Given the description of an element on the screen output the (x, y) to click on. 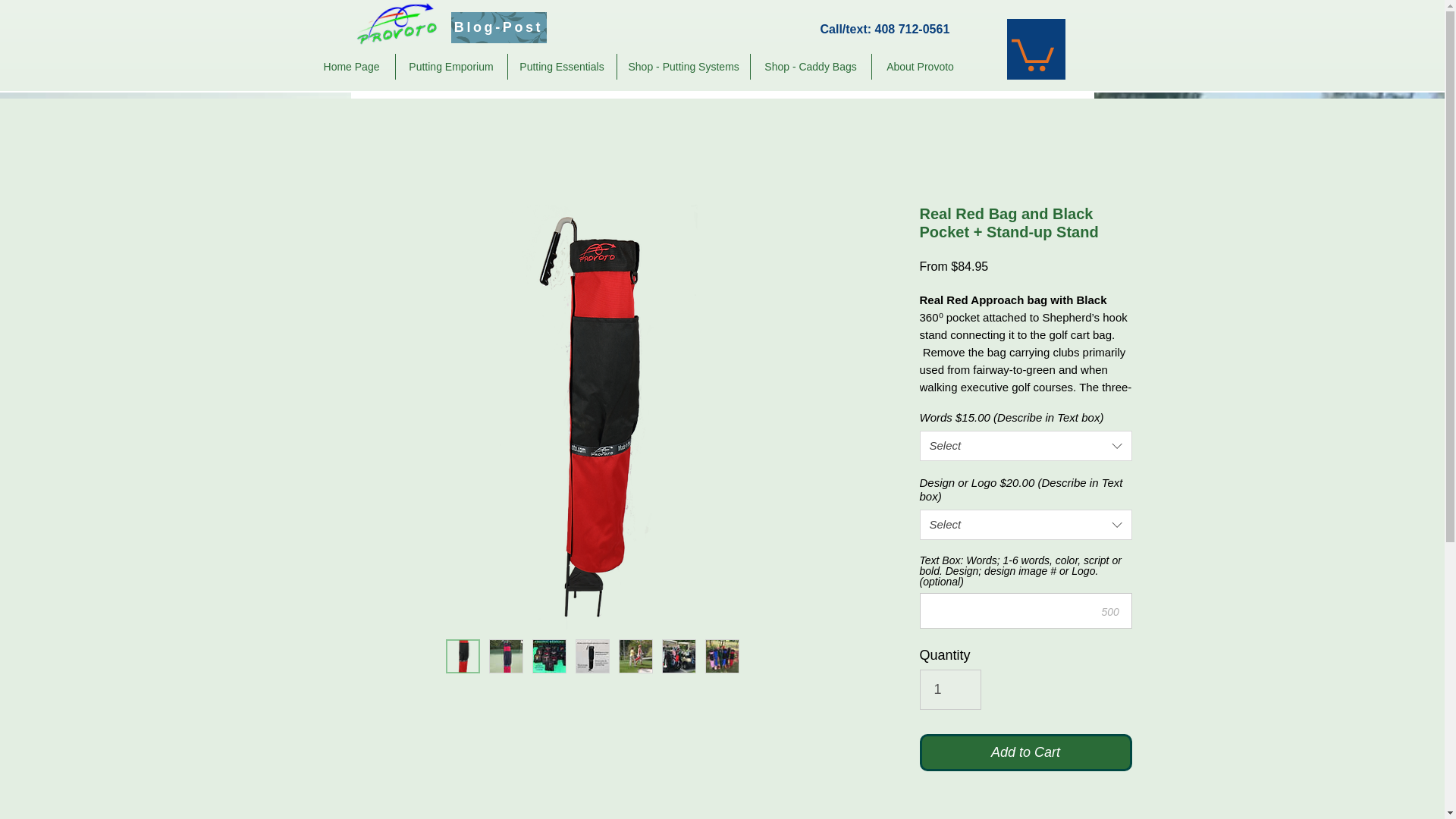
Blog-Post (497, 27)
Home Page (350, 66)
Home page Contact us (429, 73)
1 (949, 689)
